Given the description of an element on the screen output the (x, y) to click on. 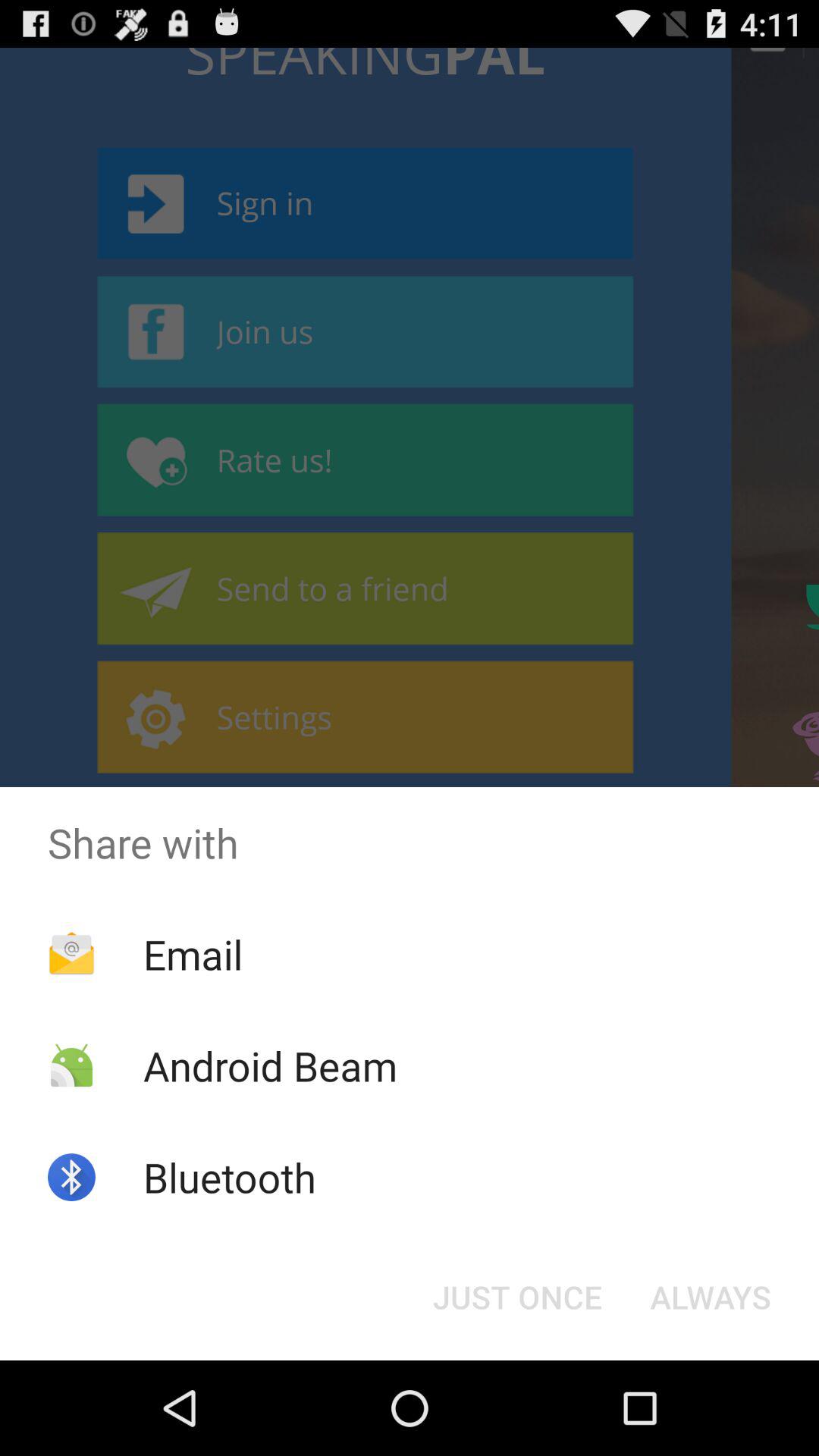
select item at the bottom (517, 1296)
